Given the description of an element on the screen output the (x, y) to click on. 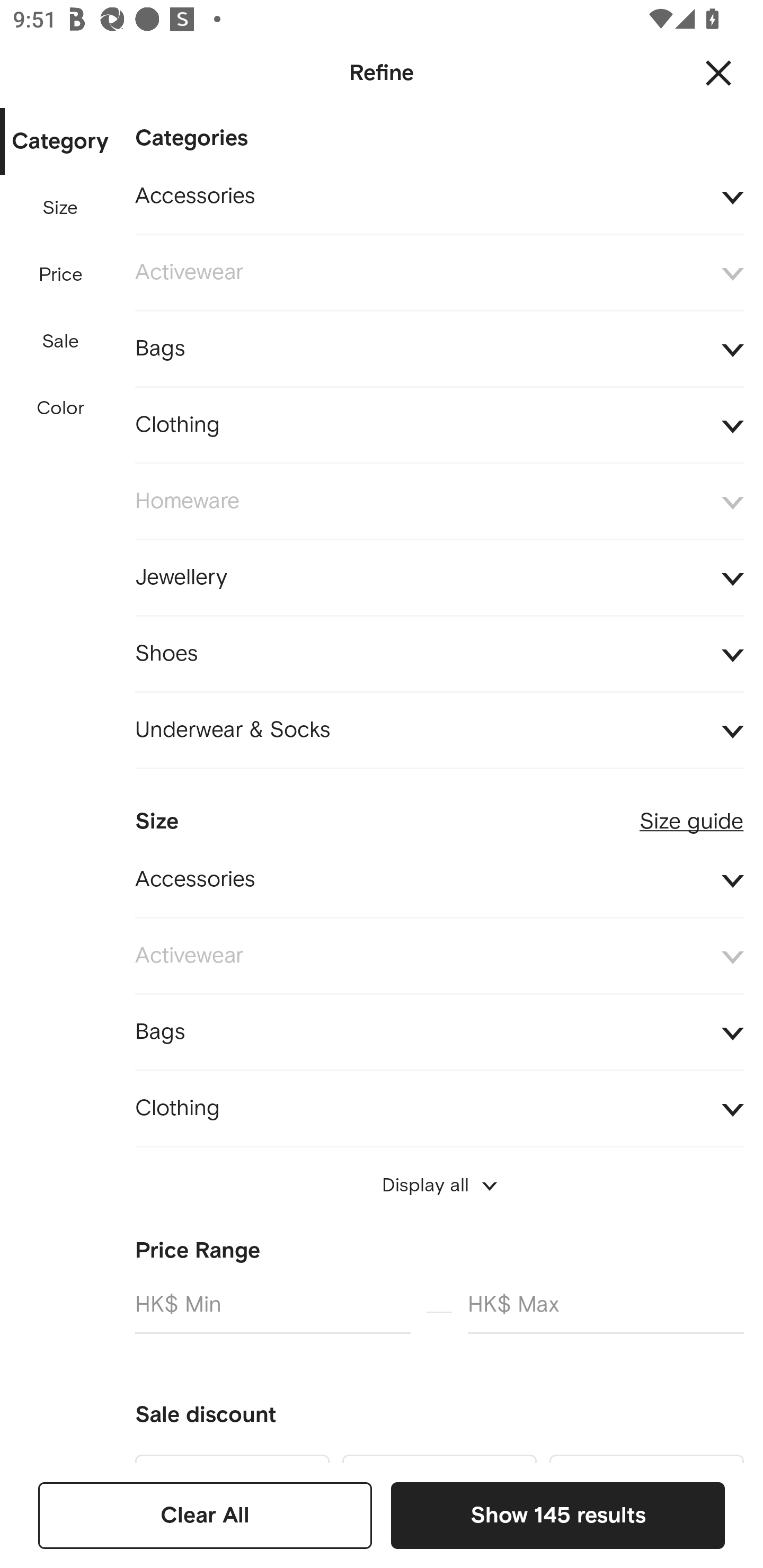
Category (60, 141)
Accessories (439, 196)
Size (60, 208)
Activewear (439, 272)
Price (60, 274)
Sale (60, 342)
Bags (439, 348)
Color (60, 408)
Clothing (439, 425)
Homeware (439, 501)
Jewellery (439, 577)
Shoes (439, 654)
Underwear & Socks (439, 730)
Size guide (691, 814)
Accessories (439, 879)
Activewear (439, 955)
Bags (439, 1032)
Clothing (439, 1108)
Display all (439, 1185)
HK$ Min (272, 1311)
HK$ Max (605, 1311)
Clear All (205, 1515)
Show 145 results (557, 1515)
